Given the description of an element on the screen output the (x, y) to click on. 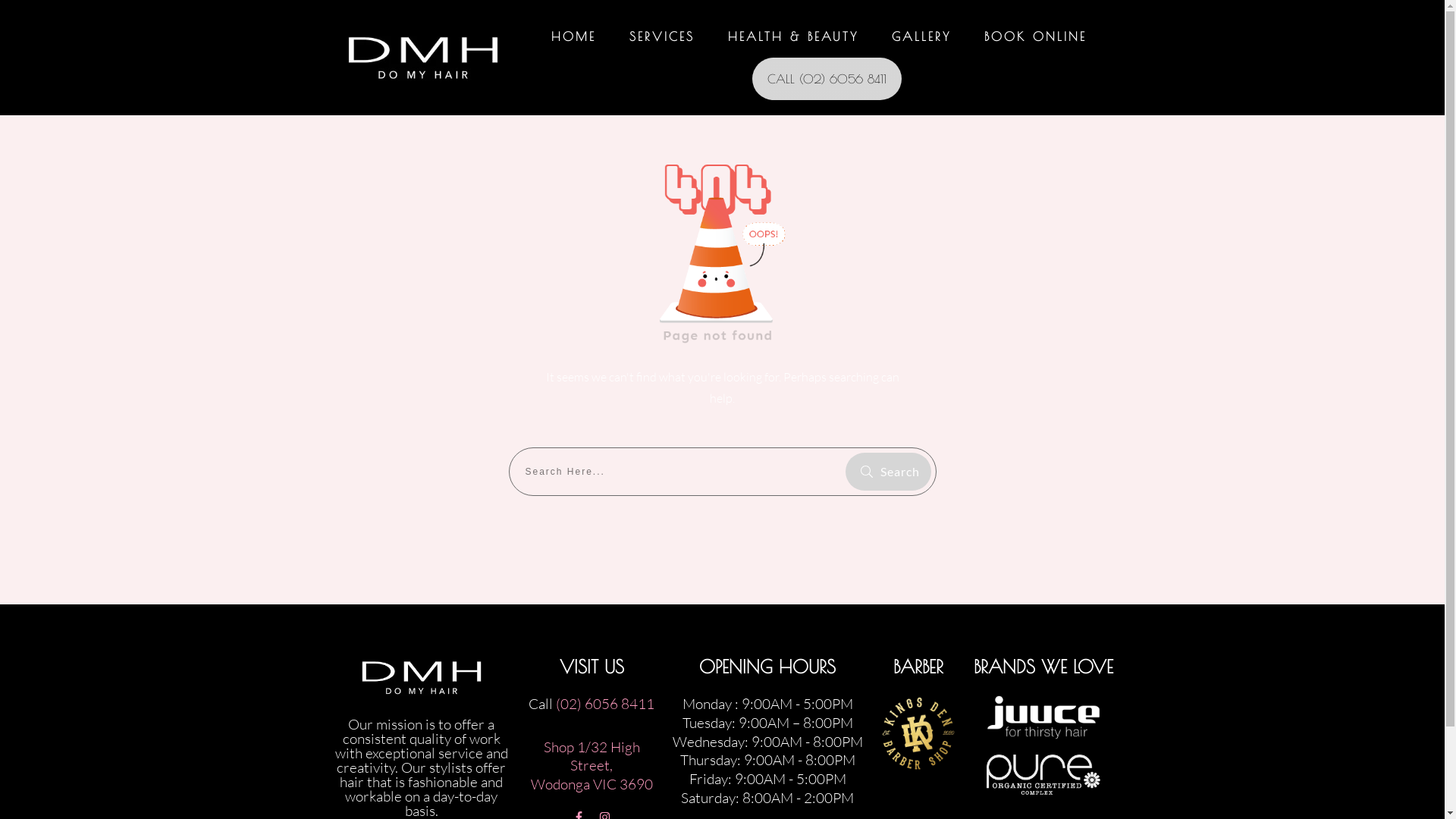
GALLERY Element type: text (920, 36)
Shop 1/32 High Street, Element type: text (591, 756)
pure-organic-certified-complex Element type: hover (1043, 774)
(02) 6056 8411 Element type: text (604, 703)
HOME Element type: text (573, 36)
juuce-for-thristy-hair Element type: hover (1043, 717)
CALL (02) 6056 8411 Element type: text (826, 78)
HEALTH & BEAUTY Element type: text (793, 36)
404 img alpha-8 (1) Element type: hover (722, 248)
Wodonga VIC 3690 Element type: text (591, 784)
kings-den-barber-shop-wodonga Element type: hover (918, 733)
BOOK ONLINE Element type: text (1035, 36)
SERVICES Element type: text (661, 36)
Search Element type: text (887, 471)
